Given the description of an element on the screen output the (x, y) to click on. 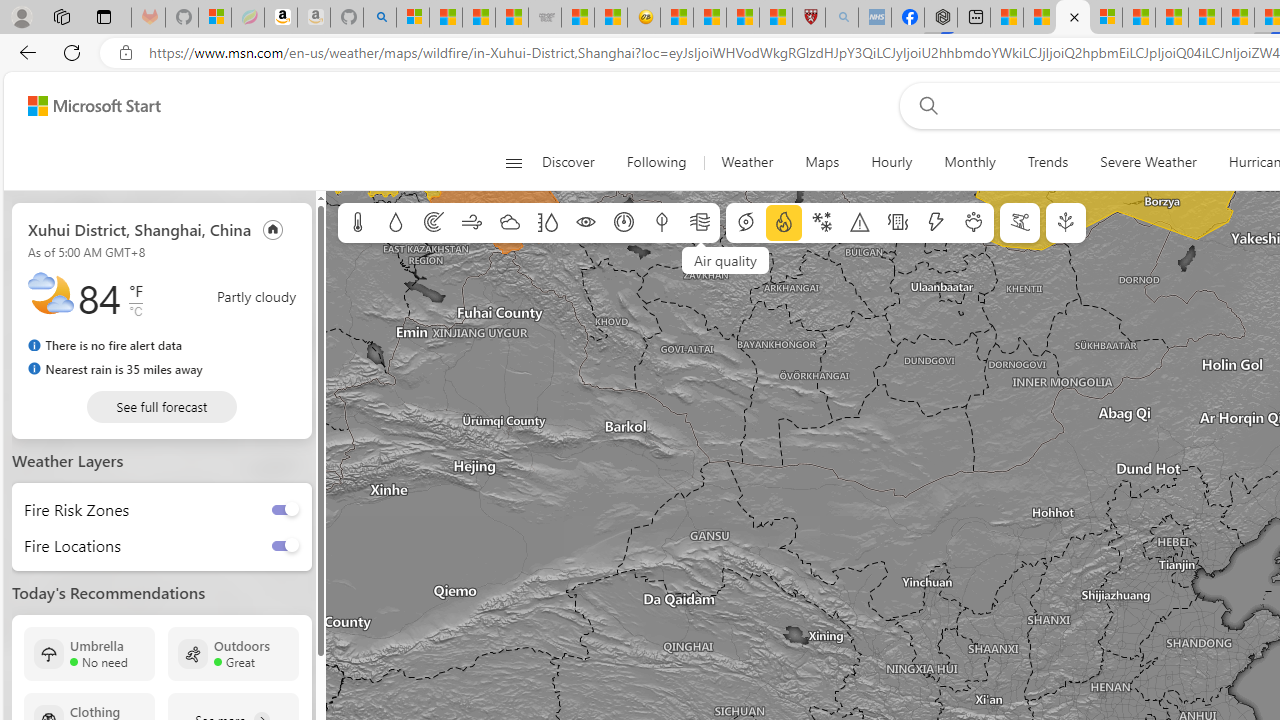
Monthly (970, 162)
Radar (433, 223)
Temperature (358, 223)
Outdoors Great (233, 654)
Lightning (935, 223)
